Given the description of an element on the screen output the (x, y) to click on. 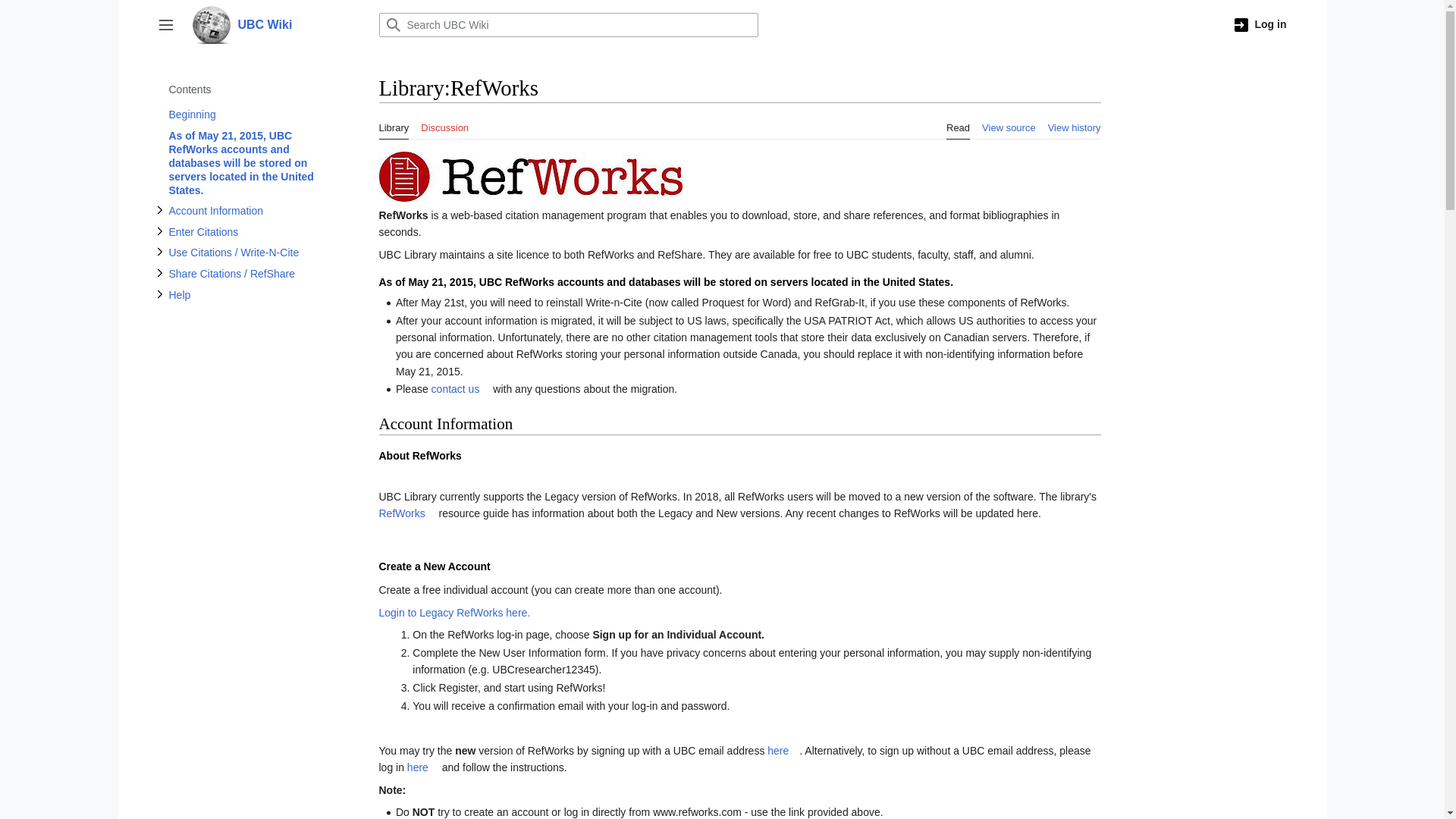
Search (392, 24)
Main menu (165, 24)
UBC Wiki (276, 24)
Beginning (245, 114)
Search (392, 24)
Search (392, 24)
Log in (1260, 24)
Search the pages for this text (392, 24)
Go (392, 24)
Enter Citations (245, 231)
Account Information (245, 210)
Toggle Account Information subsection (159, 209)
Go (392, 24)
